Given the description of an element on the screen output the (x, y) to click on. 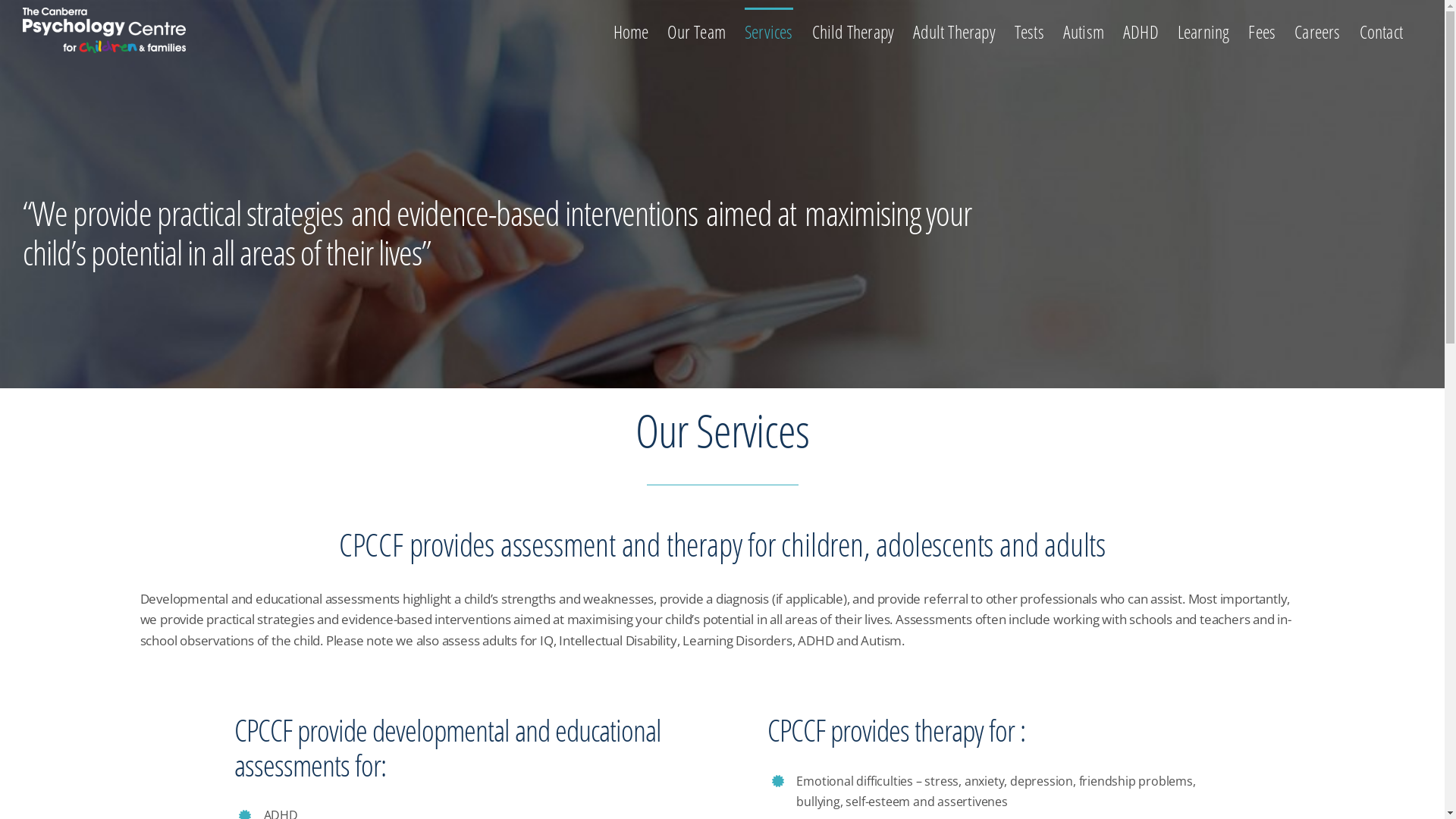
Tests Element type: text (1029, 30)
Home Element type: text (630, 30)
Child Therapy Element type: text (853, 30)
ADHD Element type: text (1140, 30)
Services Element type: text (768, 30)
Careers Element type: text (1316, 30)
Our Team Element type: text (696, 30)
Learning Element type: text (1203, 30)
Fees Element type: text (1261, 30)
Adult Therapy Element type: text (954, 30)
Contact Element type: text (1380, 30)
Autism Element type: text (1083, 30)
